Given the description of an element on the screen output the (x, y) to click on. 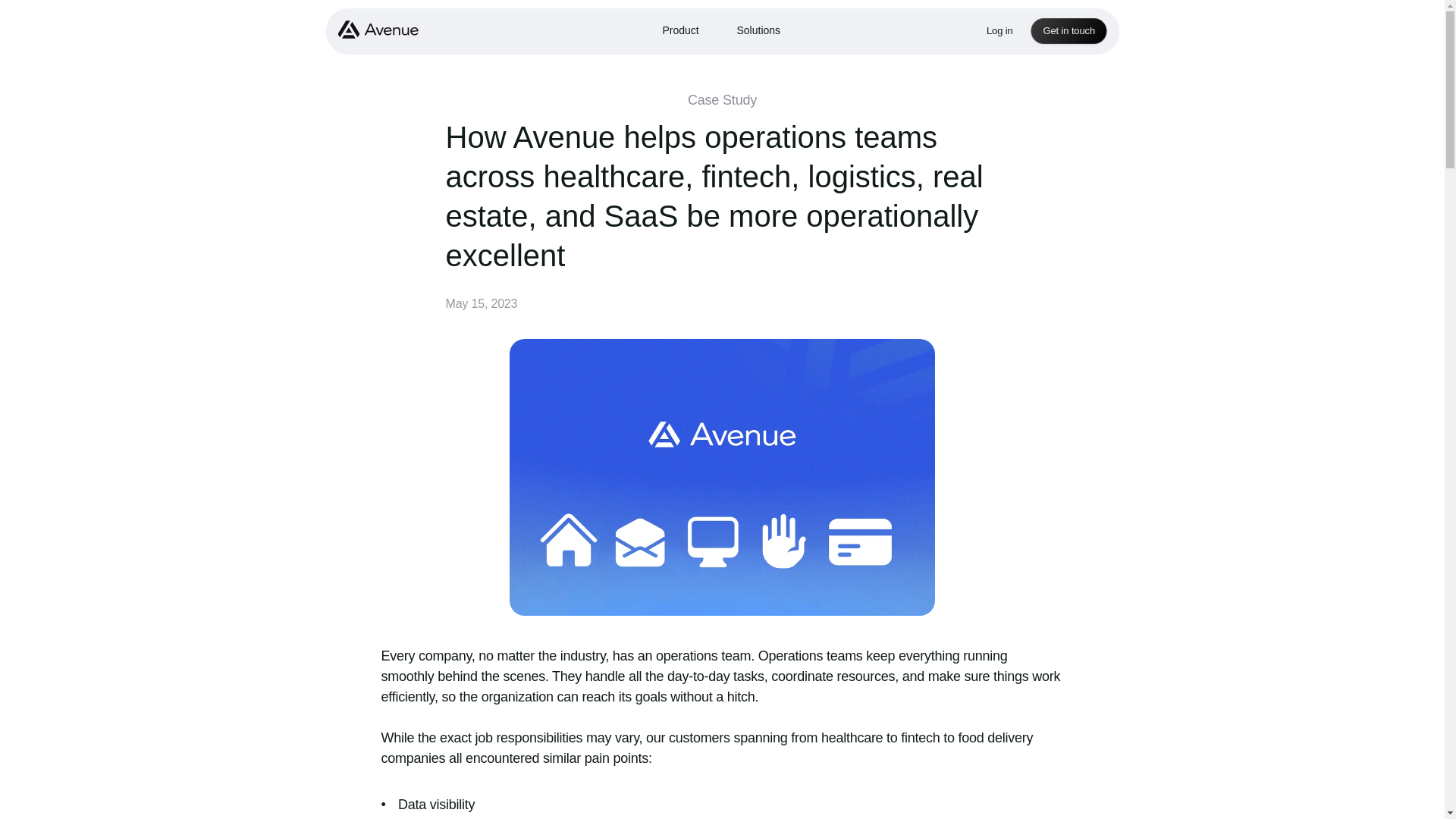
Get in touch (1068, 31)
Log in (1000, 30)
